Given the description of an element on the screen output the (x, y) to click on. 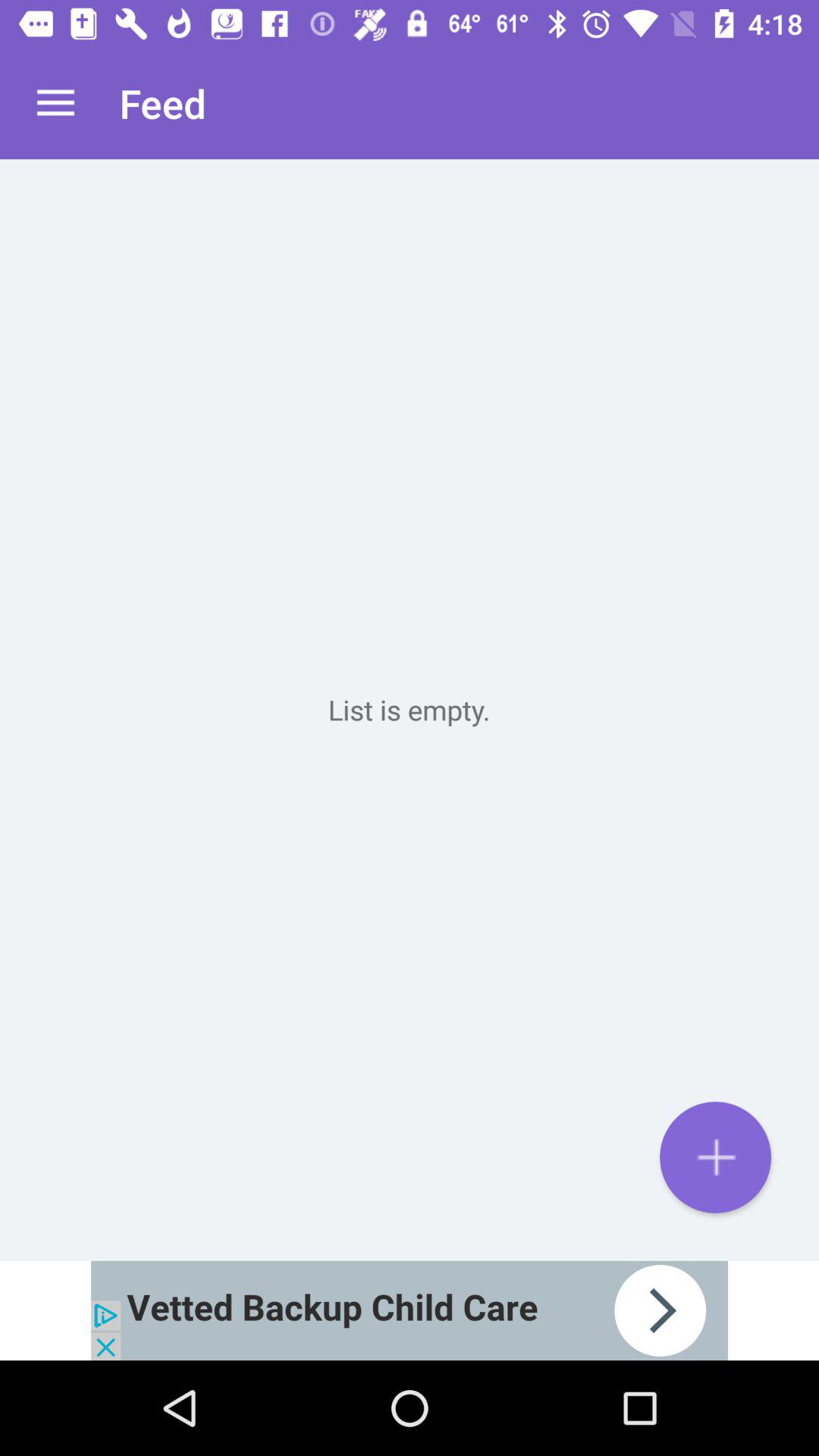
add to list (715, 1157)
